Given the description of an element on the screen output the (x, y) to click on. 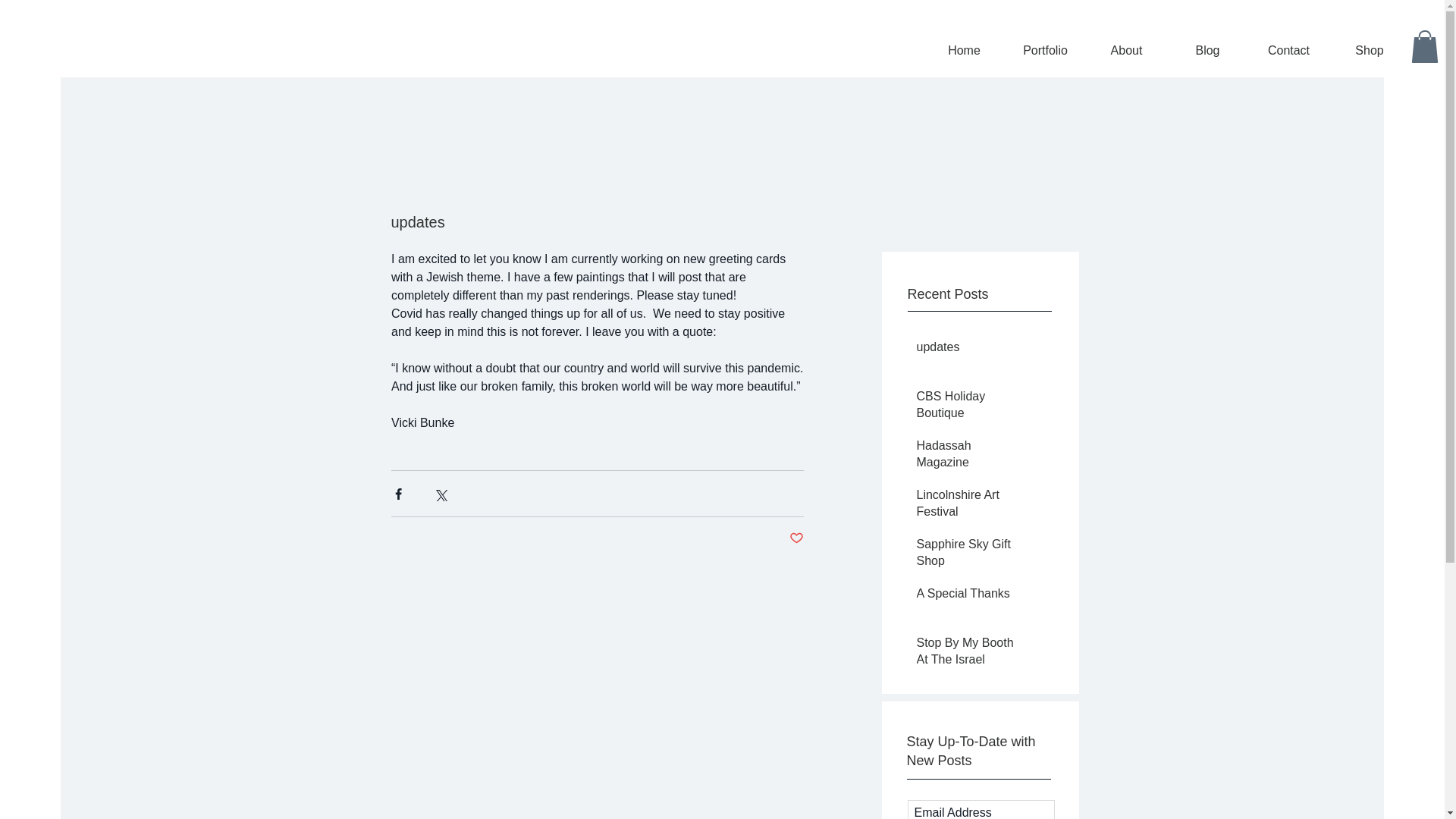
Post not marked as liked (796, 538)
Lincolnshire Art Festival (970, 506)
Hadassah Magazine (970, 457)
Sapphire Sky Gift Shop (970, 556)
Portfolio (1045, 50)
About (1126, 50)
Blog (1207, 50)
Stop By My Booth At The Israel Solidarity Day Art Festival (970, 671)
Contact (1288, 50)
CBS Holiday Boutique (970, 408)
